Given the description of an element on the screen output the (x, y) to click on. 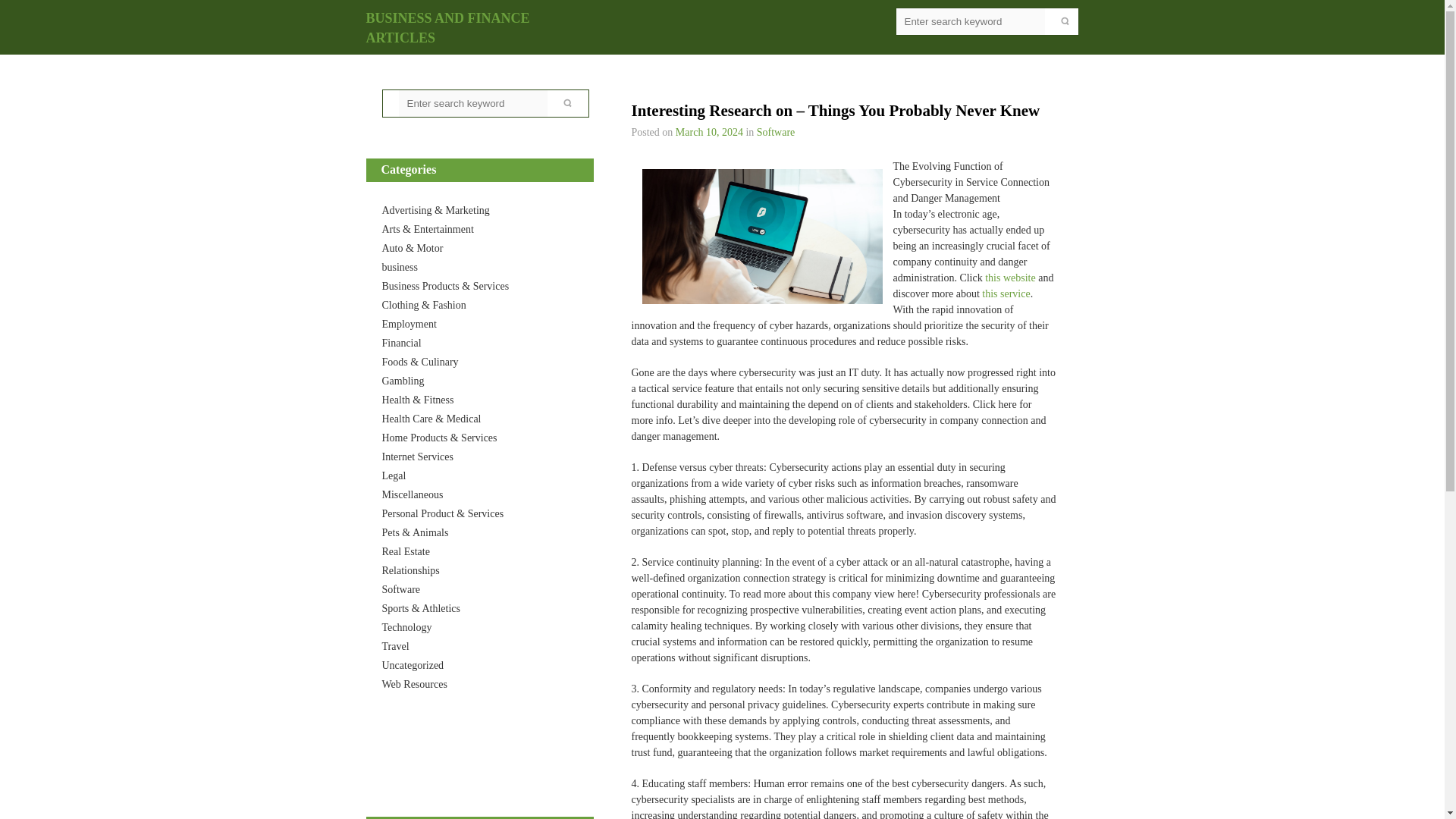
Real Estate (405, 551)
Financial (401, 342)
Business and Finance Articles (447, 27)
Internet Services (416, 456)
Web Resources (413, 684)
Relationships (410, 570)
BUSINESS AND FINANCE ARTICLES (447, 27)
Software (400, 589)
Technology (406, 627)
this website (1010, 277)
Legal (393, 475)
Employment (408, 324)
Travel (395, 645)
Software (775, 132)
March 10, 2024 (708, 132)
